Given the description of an element on the screen output the (x, y) to click on. 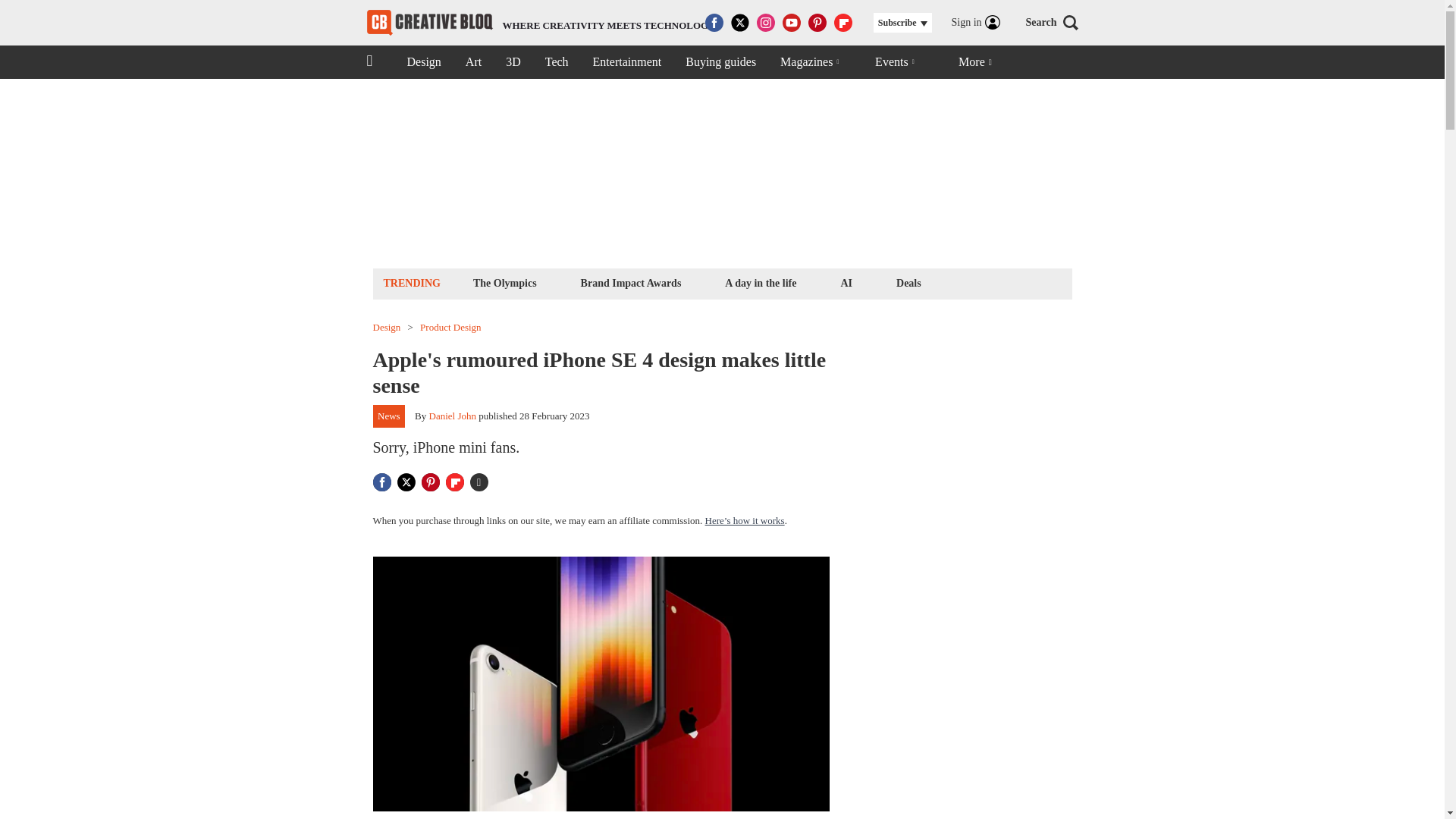
Brand Impact Awards (631, 282)
Daniel John (452, 415)
3D (512, 61)
Design (386, 327)
Design (423, 61)
Buying guides (720, 61)
Art (472, 61)
Entertainment (627, 61)
Tech (556, 61)
Deals (908, 282)
